Given the description of an element on the screen output the (x, y) to click on. 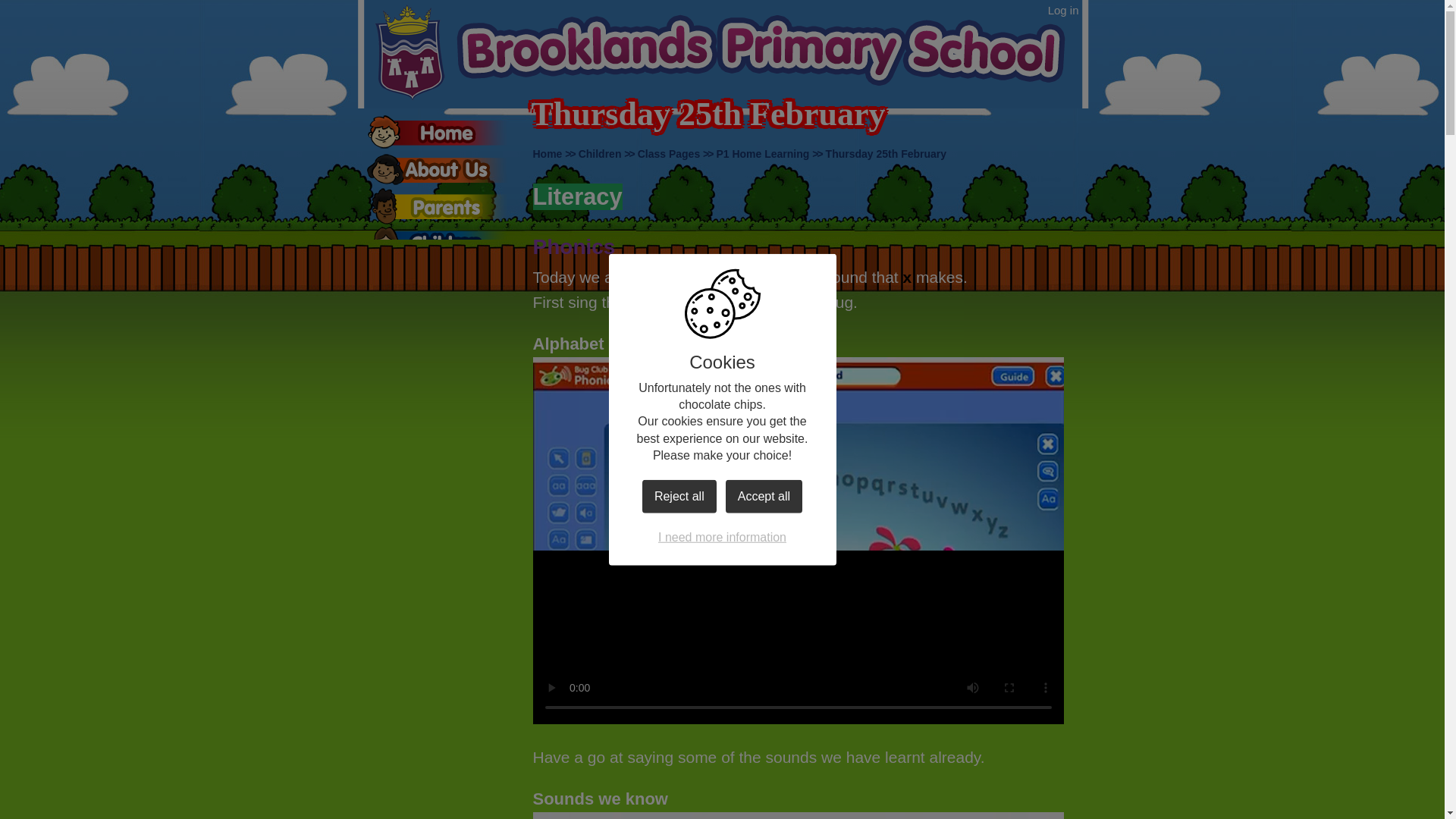
Thursday 25th February (886, 153)
Children (436, 243)
Children (599, 153)
P1 Home Learning (762, 153)
Parents (436, 206)
Home Page (721, 52)
Home (547, 153)
Class Pages (668, 153)
Log in (1063, 10)
Home (436, 131)
About Us (436, 169)
Home Page (721, 52)
